Given the description of an element on the screen output the (x, y) to click on. 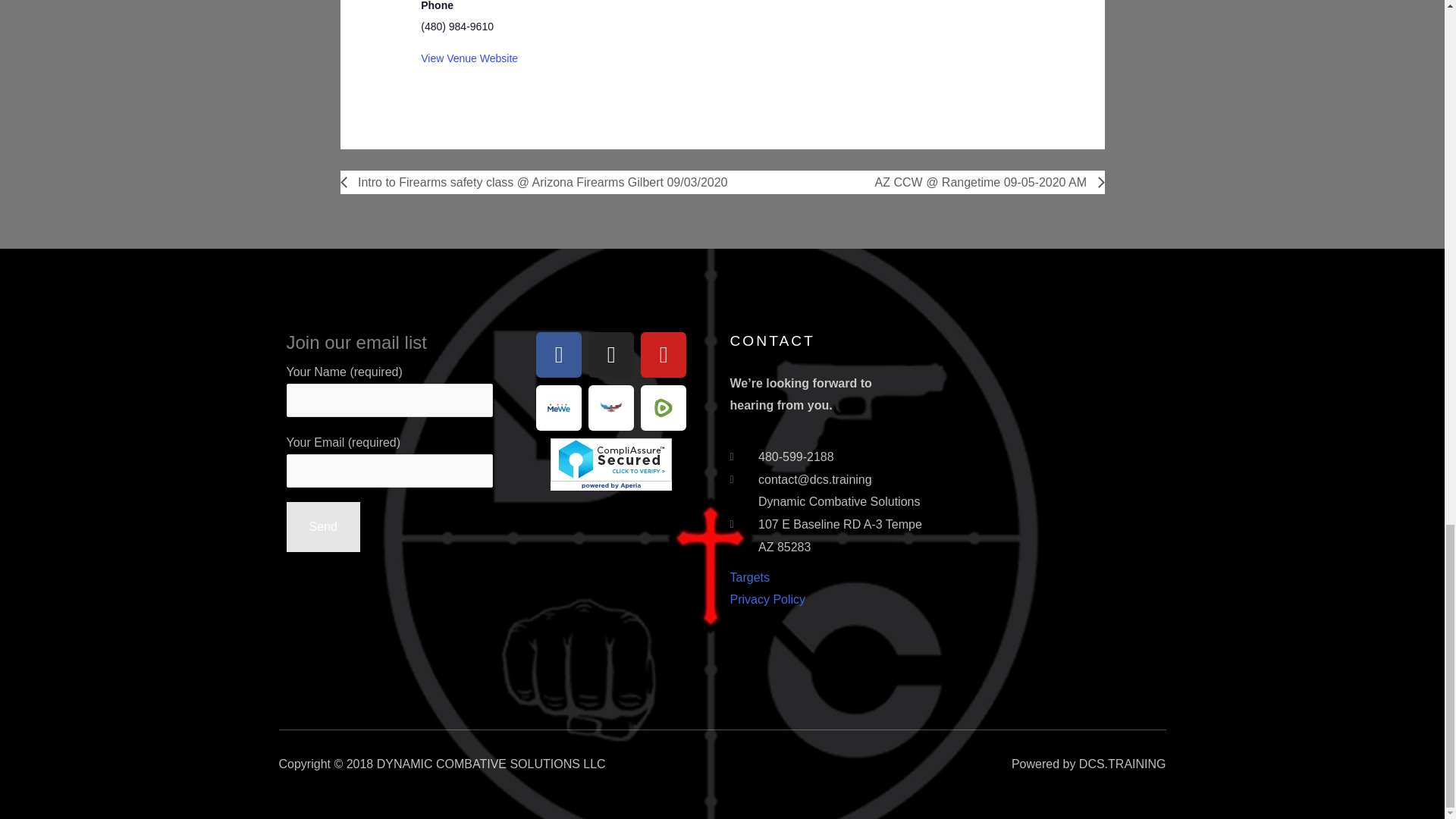
Google maps iframe displaying the address to Rio Salado (646, 21)
Send (322, 527)
107 E Baseline RD A-3 Tempe AZ 85283 (1055, 445)
Send (322, 527)
View Venue Website (469, 58)
